Given the description of an element on the screen output the (x, y) to click on. 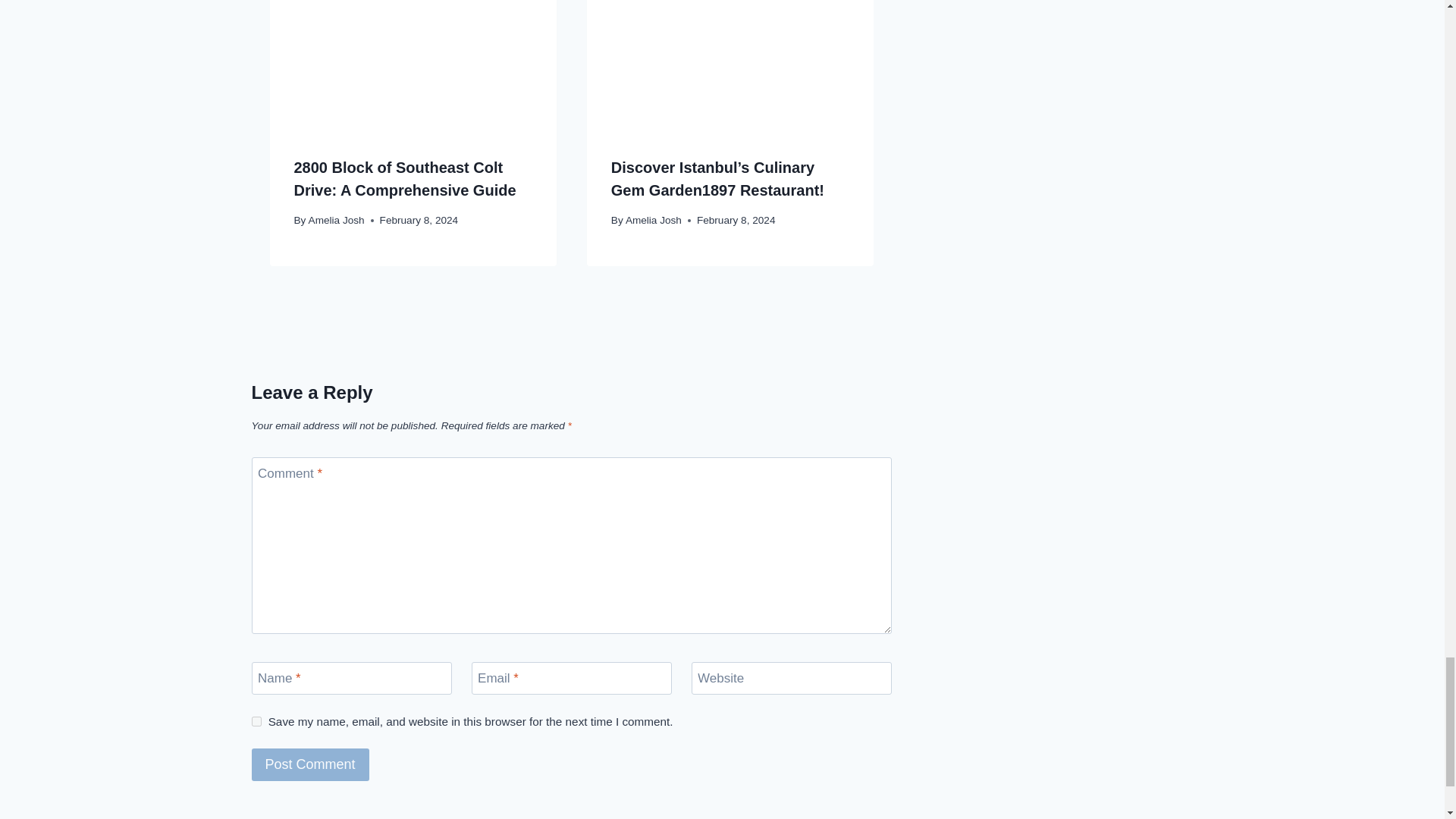
Post Comment (310, 764)
yes (256, 721)
